Given the description of an element on the screen output the (x, y) to click on. 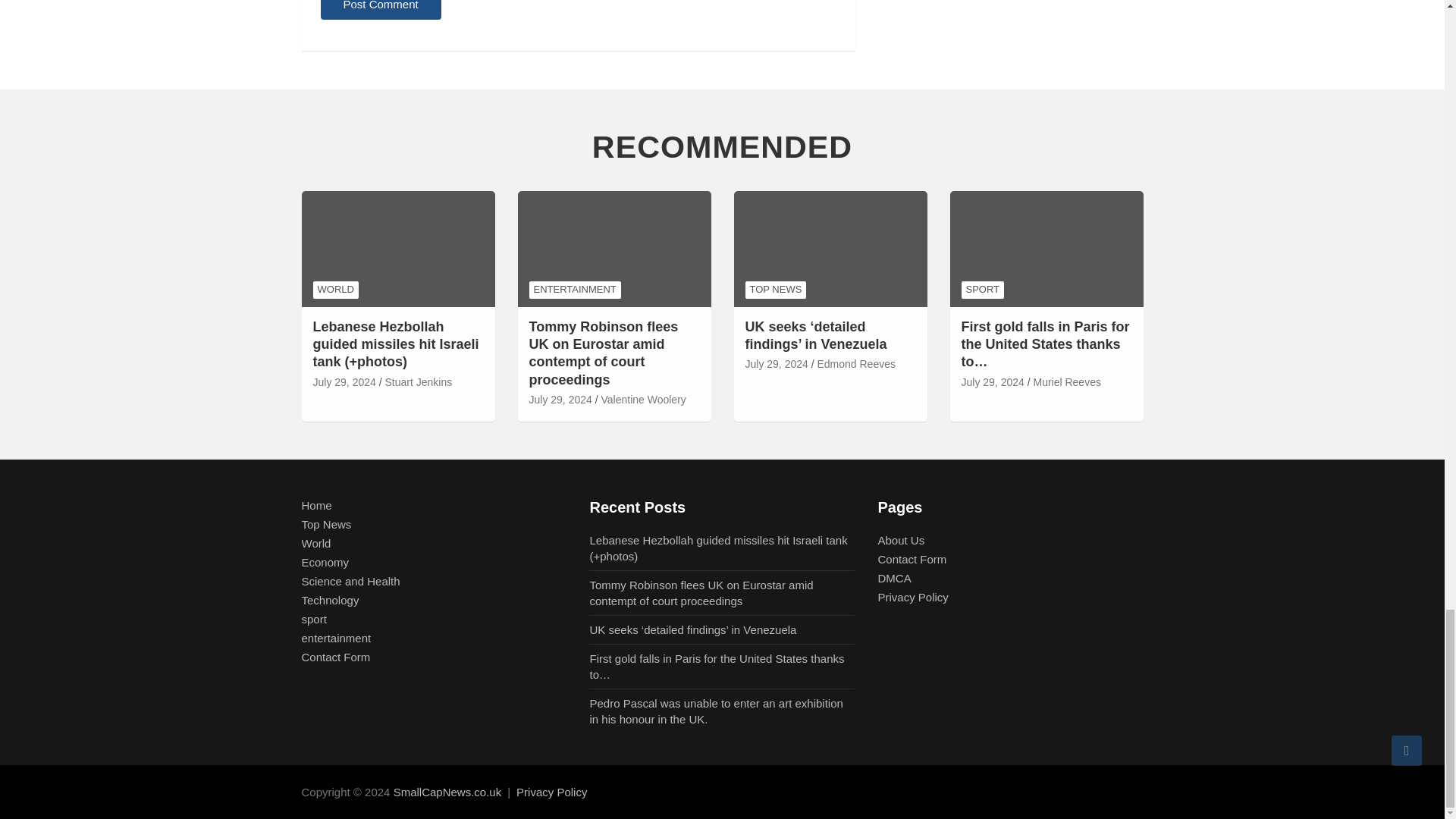
Post Comment (380, 9)
SmallCapNews.co.uk (447, 791)
Post Comment (380, 9)
